Given the description of an element on the screen output the (x, y) to click on. 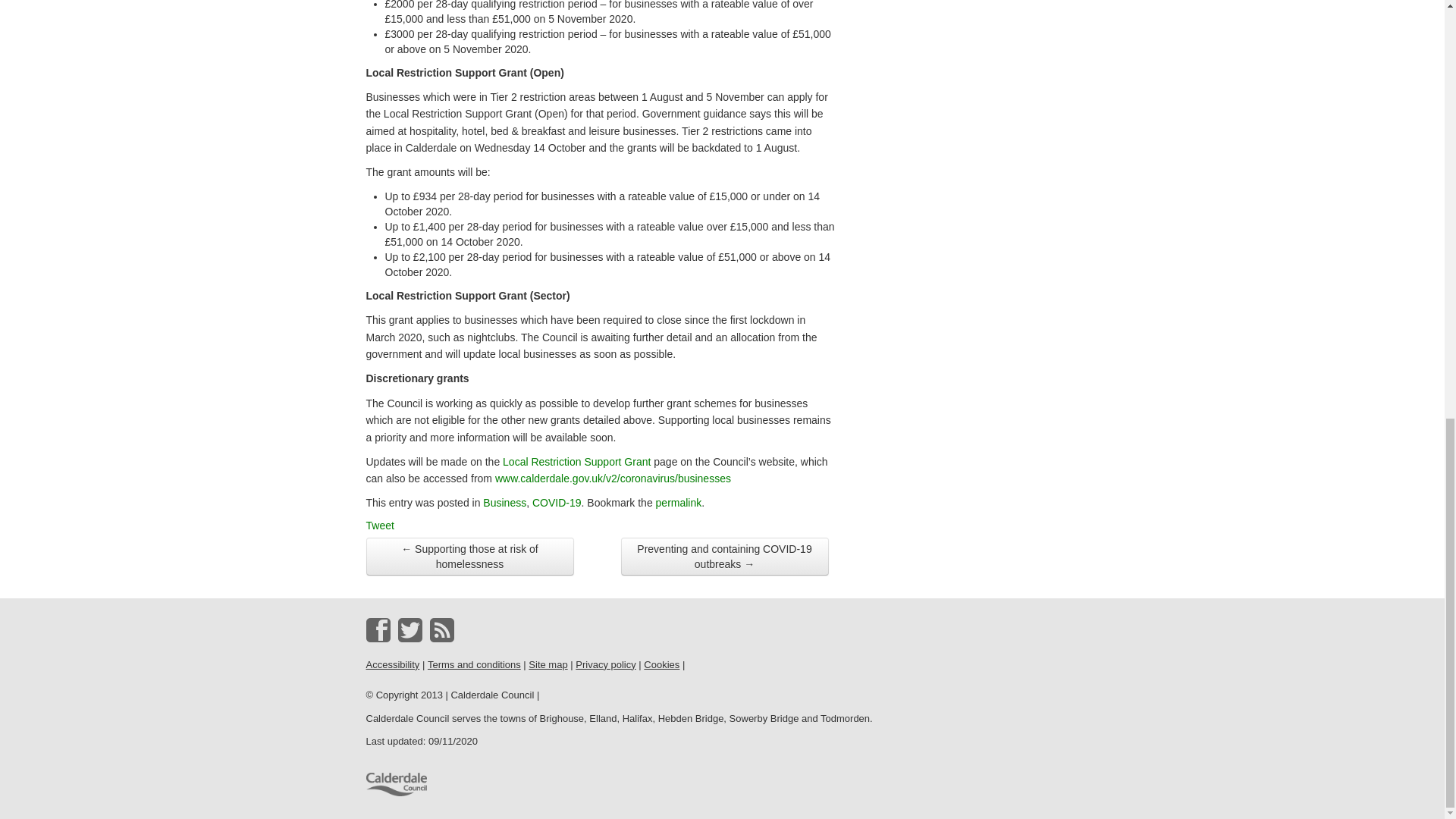
permalink (678, 502)
Business (504, 502)
Permalink to New COVID-19 business grants set to launch (678, 502)
Twitter (409, 630)
Facebook (377, 630)
Local Restriction Support Grant (576, 461)
Tweet (379, 525)
RSS (440, 630)
COVID-19 (556, 502)
